Given the description of an element on the screen output the (x, y) to click on. 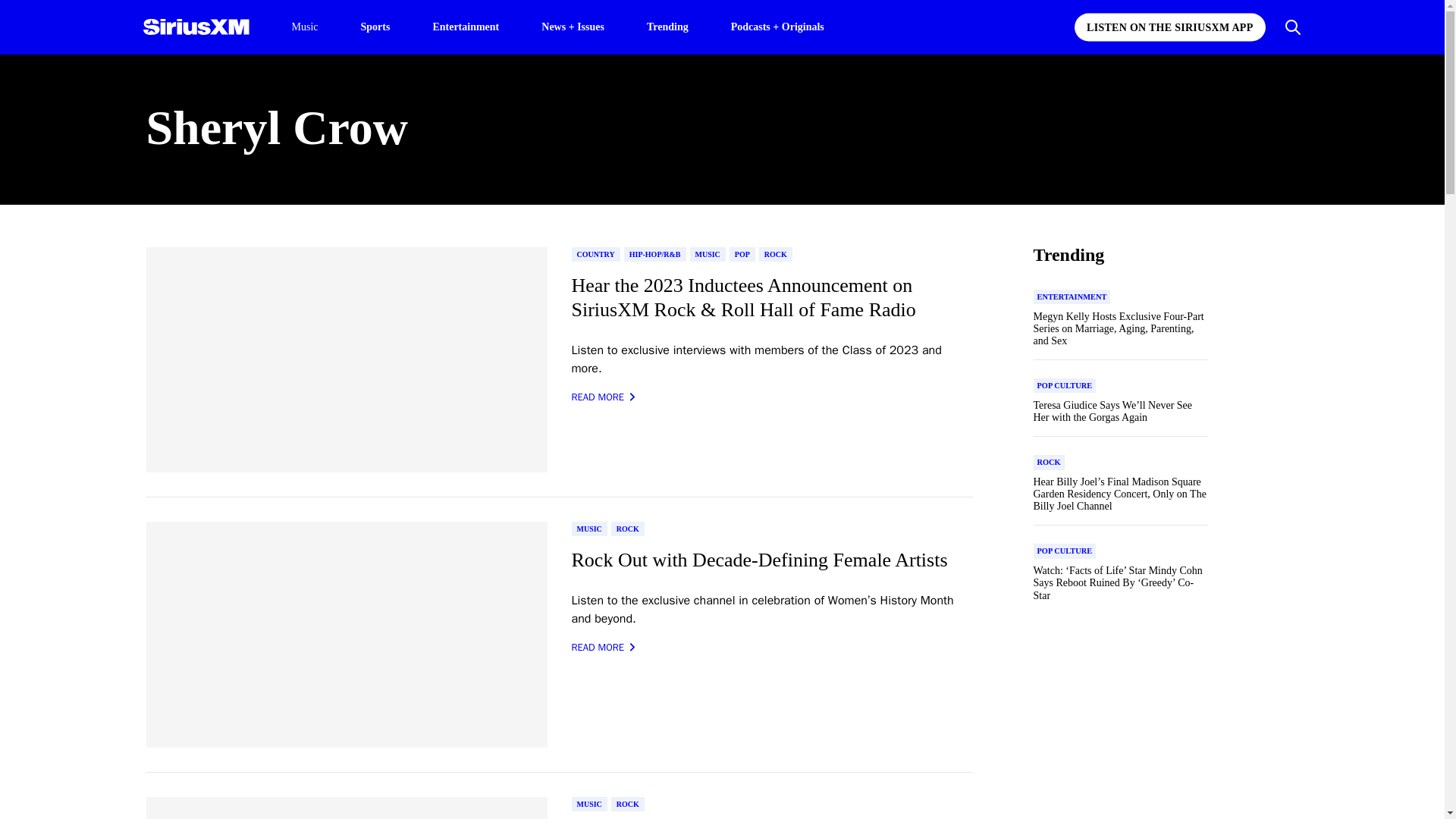
Entertainment (465, 26)
Trending (667, 26)
Sports (375, 26)
Music (304, 26)
POP (742, 254)
READ MORE (603, 647)
ROCK (628, 803)
MUSIC (589, 803)
Rock Out with Decade-Defining Female Artists (772, 560)
MUSIC (707, 254)
ROCK (775, 254)
READ MORE (603, 396)
ROCK (628, 528)
COUNTRY (596, 254)
LISTEN ON THE SIRIUSXM APP (1169, 27)
